Given the description of an element on the screen output the (x, y) to click on. 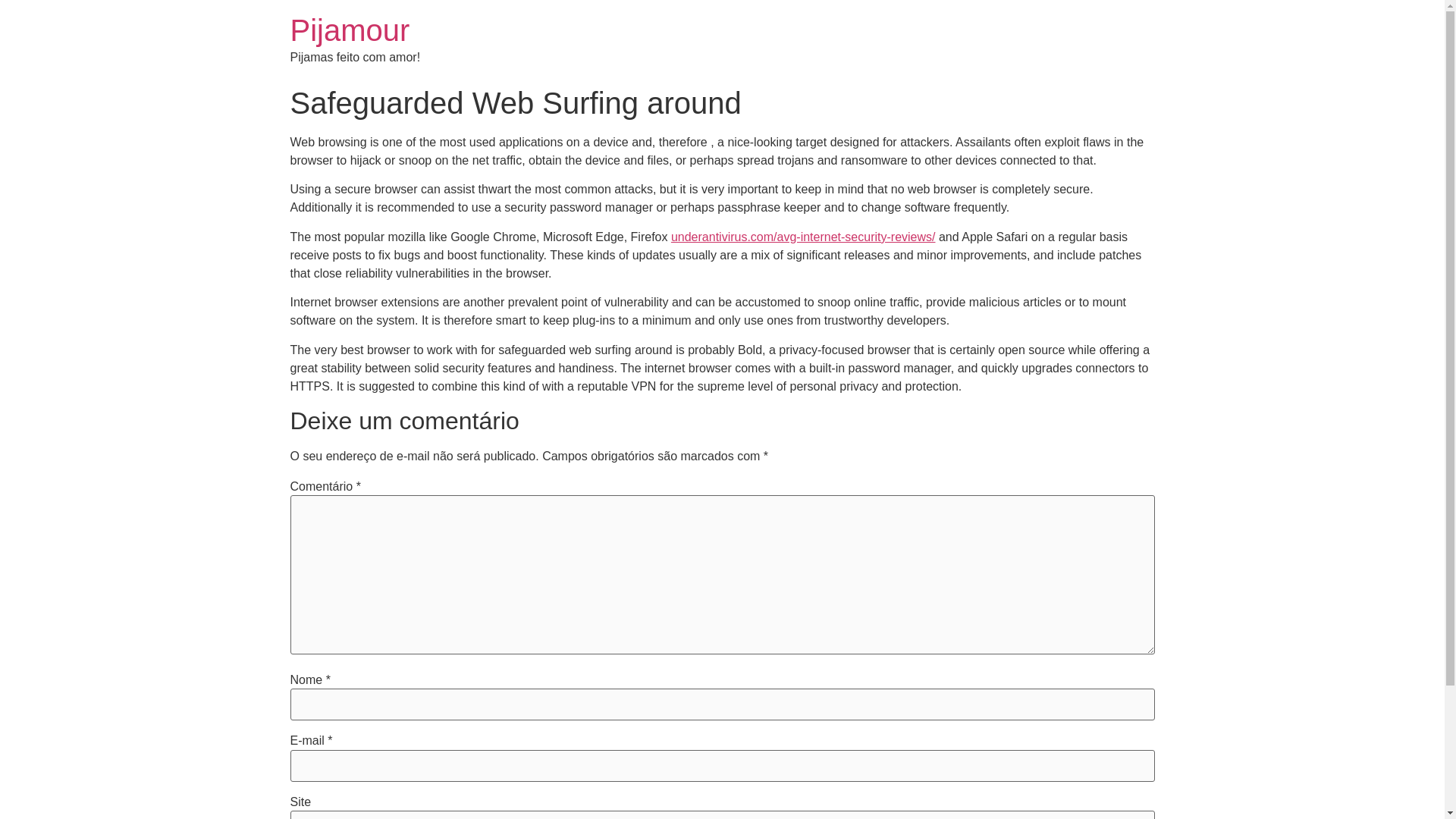
Pijamour (349, 29)
Inicial (349, 29)
